Given the description of an element on the screen output the (x, y) to click on. 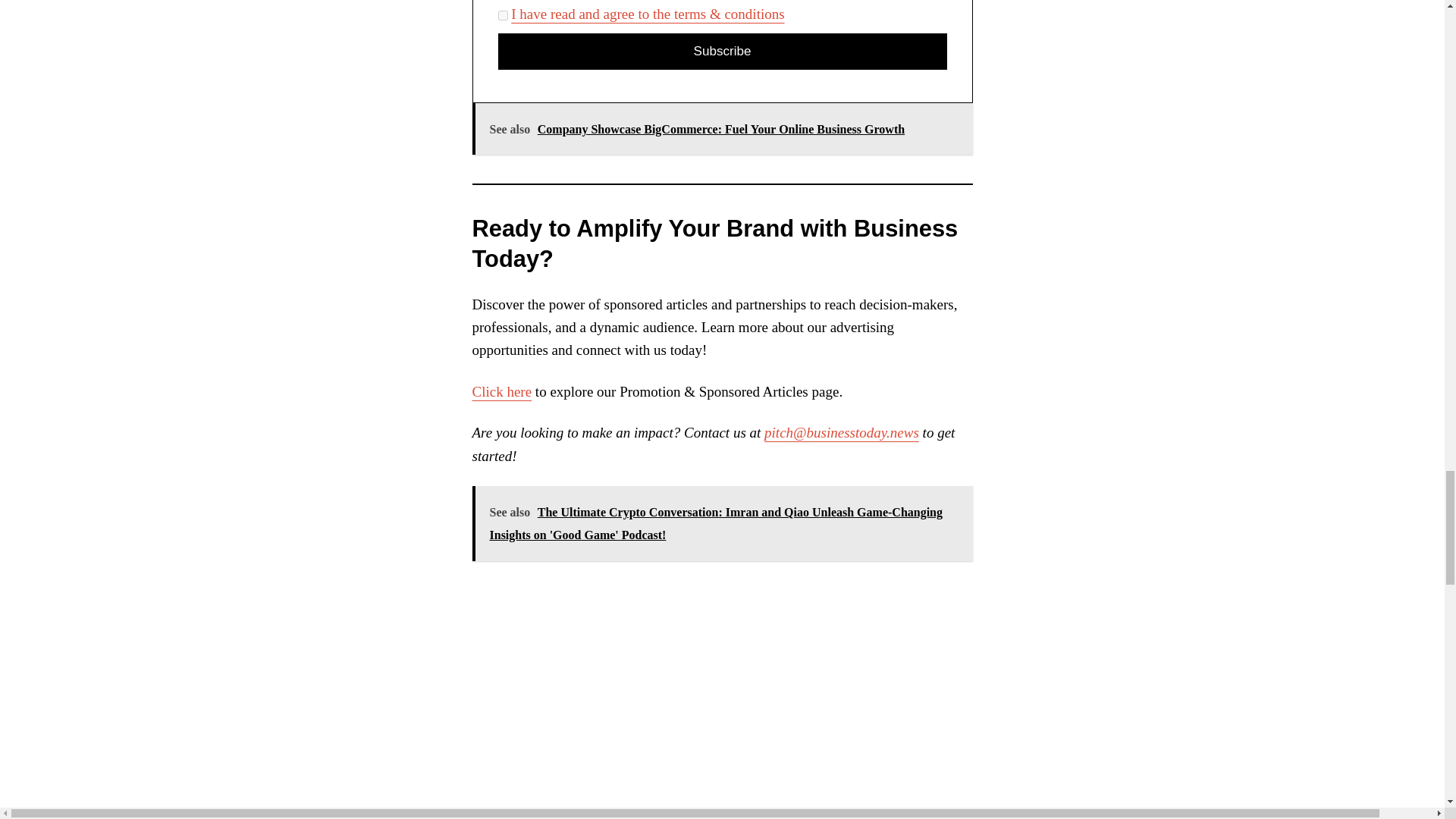
1 (501, 15)
Subscribe (721, 51)
